Given the description of an element on the screen output the (x, y) to click on. 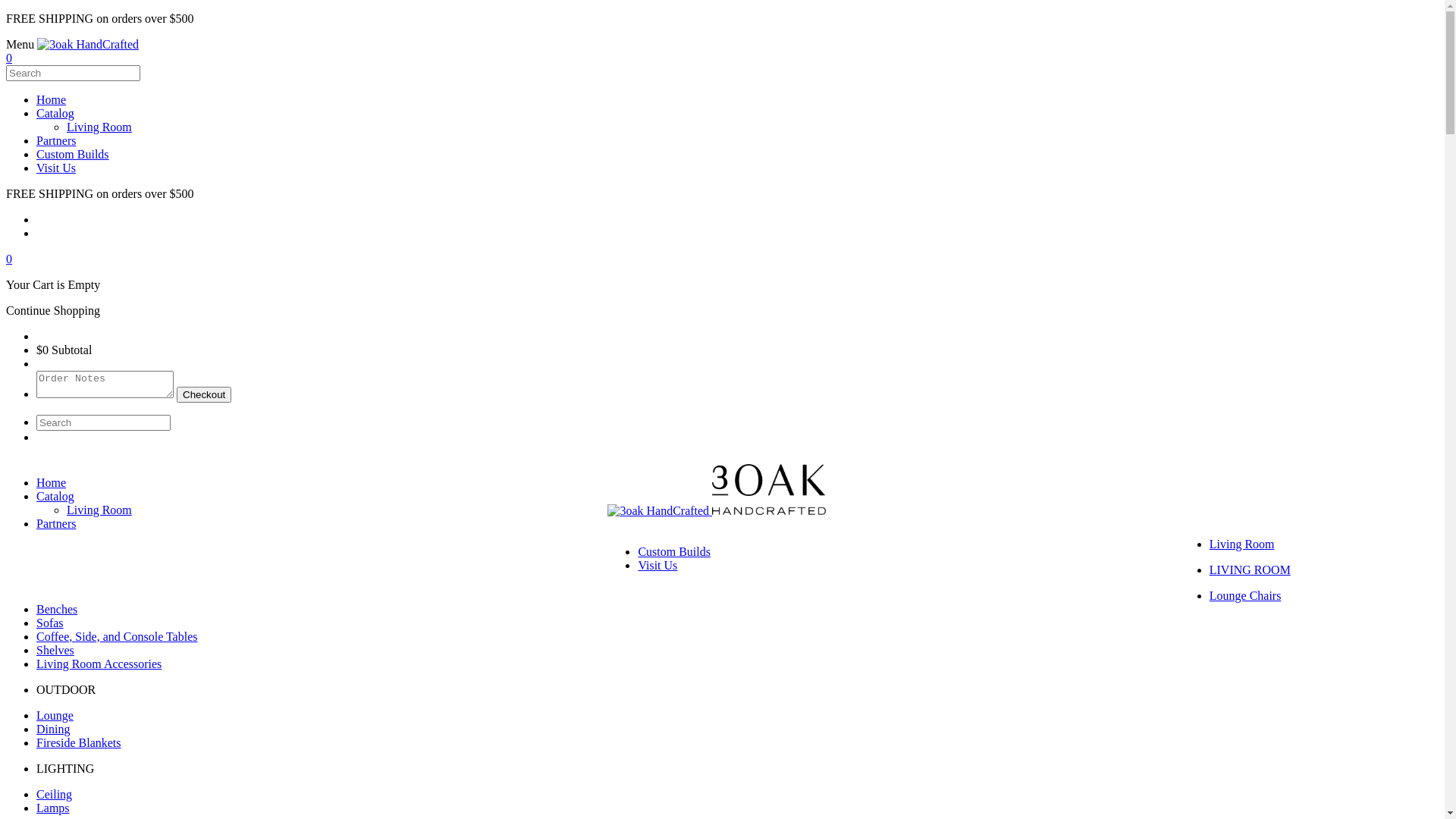
Custom Builds Element type: text (72, 153)
Catalog Element type: text (55, 112)
Checkout Element type: text (203, 394)
Menu Element type: text (722, 43)
Catalog Element type: text (55, 495)
0 Element type: text (9, 258)
Fireside Blankets Element type: text (78, 742)
Partners Element type: text (55, 140)
Home Element type: text (50, 482)
Coffee, Side, and Console Tables Element type: text (116, 636)
Ceiling Element type: text (54, 793)
Home Element type: text (50, 99)
Benches Element type: text (56, 608)
Living Room Element type: text (1241, 543)
0 Element type: text (9, 57)
Partners Element type: text (55, 523)
Lamps Element type: text (52, 807)
Continue Shopping Element type: text (53, 310)
Shelves Element type: text (55, 649)
Visit Us Element type: text (55, 167)
Visit Us Element type: text (657, 564)
Custom Builds Element type: text (673, 551)
Lounge Chairs Element type: text (1245, 595)
Dining Element type: text (52, 728)
LIGHTING Element type: text (65, 768)
3oak HandCrafted Element type: hover (716, 510)
Living Room Element type: text (98, 509)
Living Room Element type: text (98, 126)
Living Room Accessories Element type: text (98, 663)
Lounge Element type: text (54, 715)
OUTDOOR Element type: text (65, 689)
3oak HandCrafted Element type: hover (87, 43)
Sofas Element type: text (49, 622)
LIVING ROOM Element type: text (1249, 569)
